Given the description of an element on the screen output the (x, y) to click on. 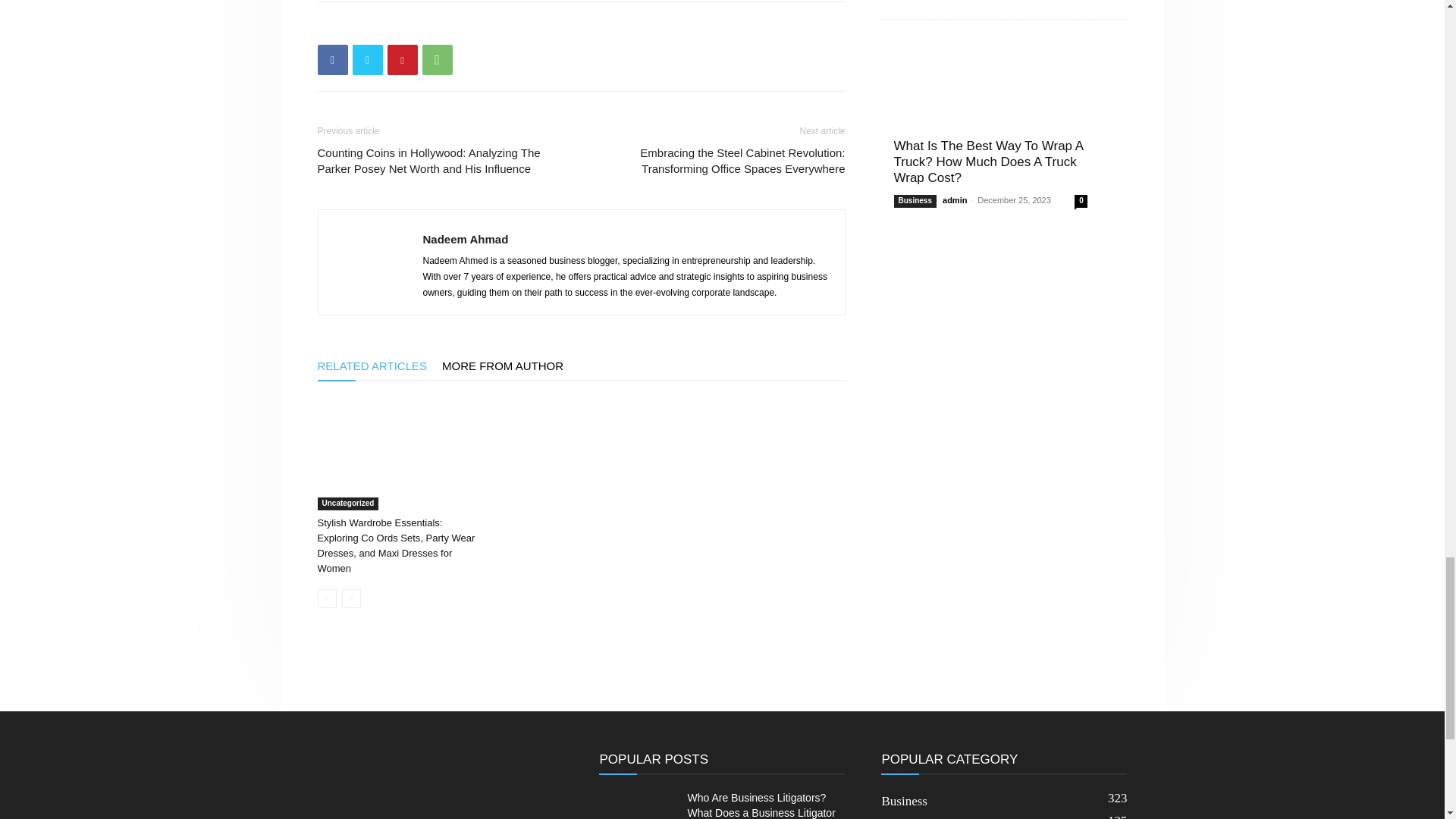
Facebook (332, 60)
bottomFacebookLike (430, 26)
